Given the description of an element on the screen output the (x, y) to click on. 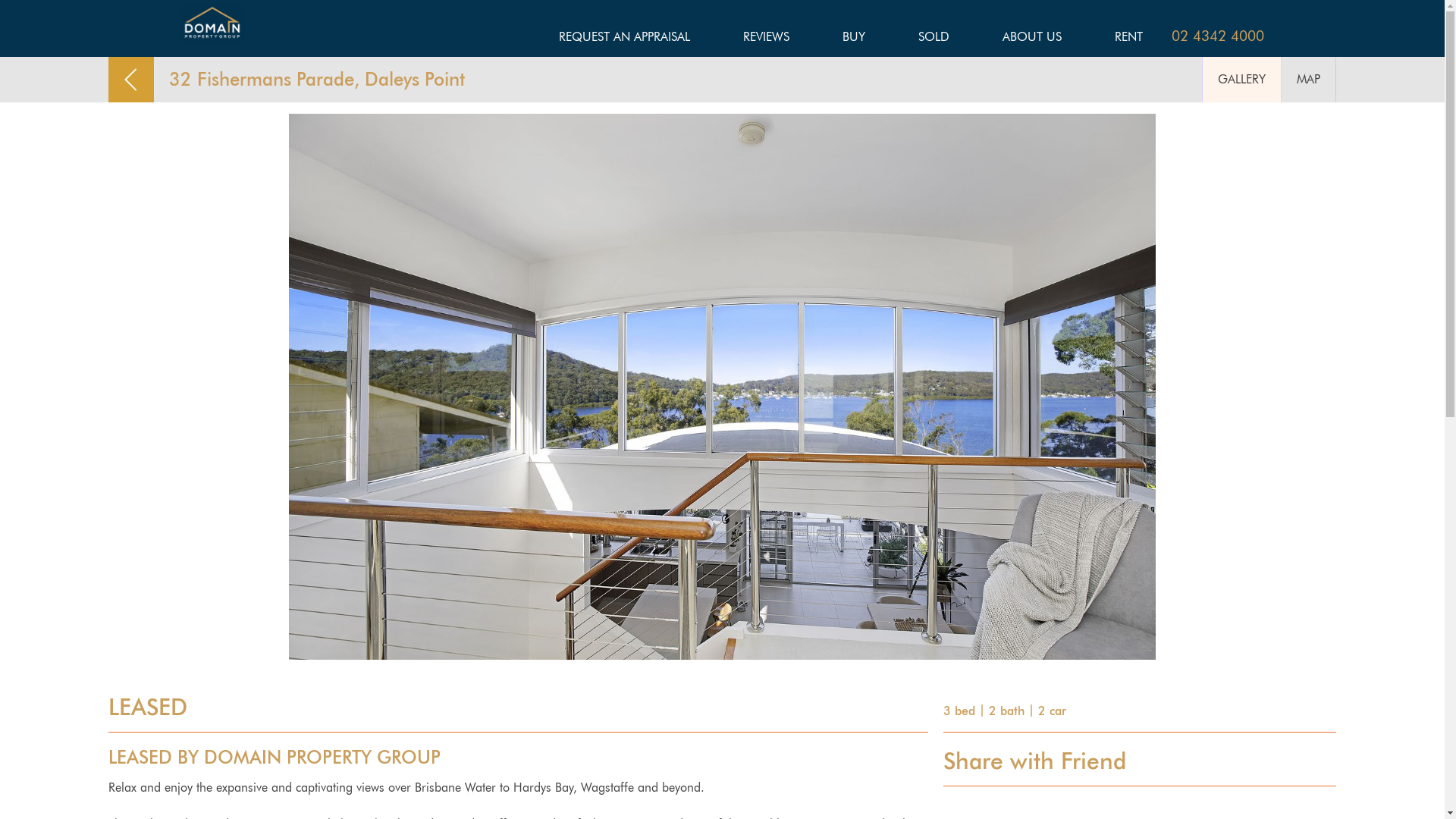
RENT Element type: text (1128, 40)
REVIEWS Element type: text (765, 40)
BUY Element type: text (853, 40)
02 4342 4000 Element type: text (1217, 35)
SOLD Element type: text (933, 40)
GALLERY Element type: text (1241, 79)
MAP Element type: text (1308, 79)
REQUEST AN APPRAISAL Element type: text (624, 40)
Back Element type: hover (130, 79)
ABOUT US Element type: text (1031, 40)
Domain Property Group -  Element type: hover (212, 22)
